Given the description of an element on the screen output the (x, y) to click on. 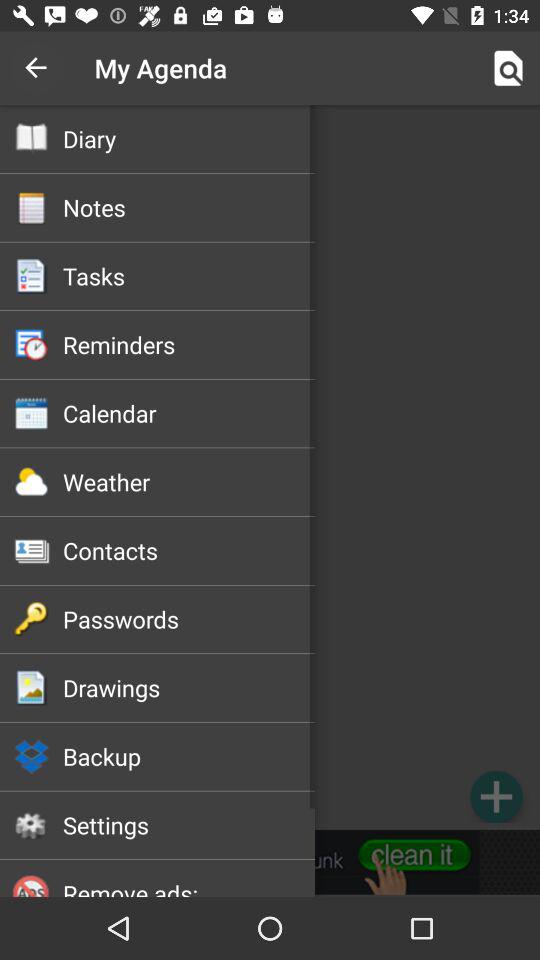
function buttons that when clicked display information (269, 467)
